Given the description of an element on the screen output the (x, y) to click on. 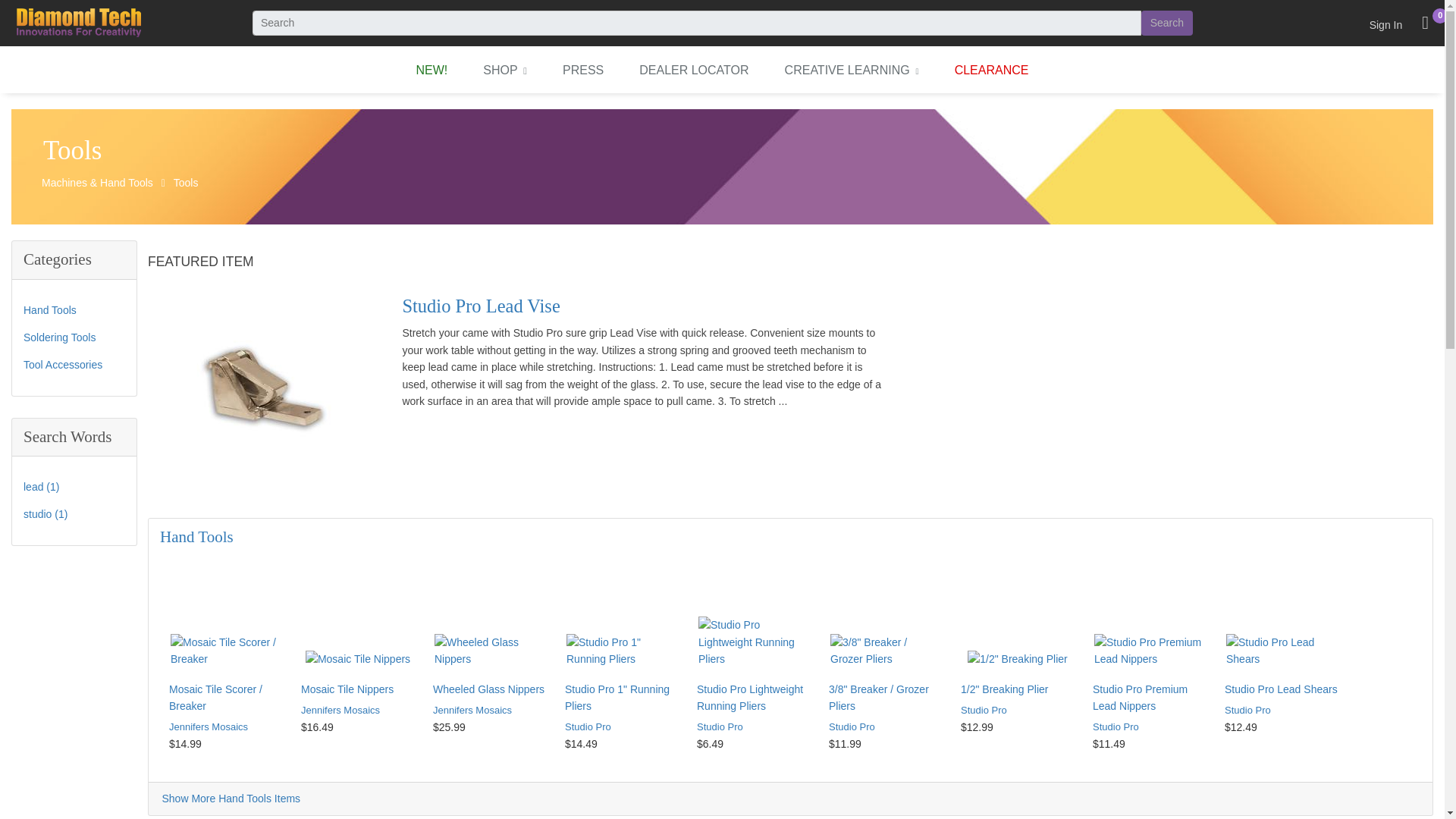
NEW! (432, 68)
SHOP (504, 69)
Sign In (1386, 22)
Search (1166, 23)
